Given the description of an element on the screen output the (x, y) to click on. 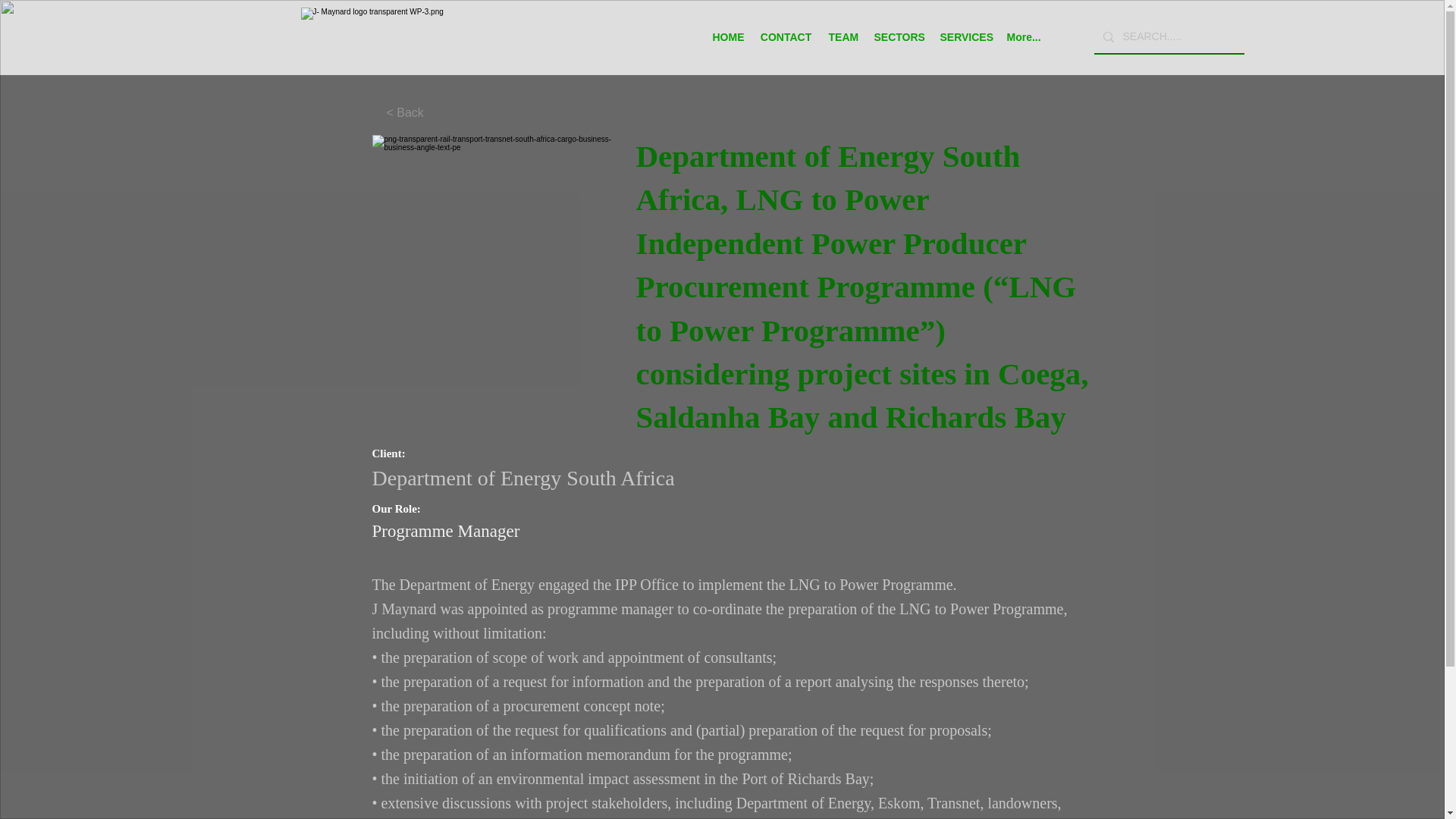
CONTACT (786, 36)
SERVICES (964, 36)
HOME (727, 36)
TEAM (843, 36)
